Given the description of an element on the screen output the (x, y) to click on. 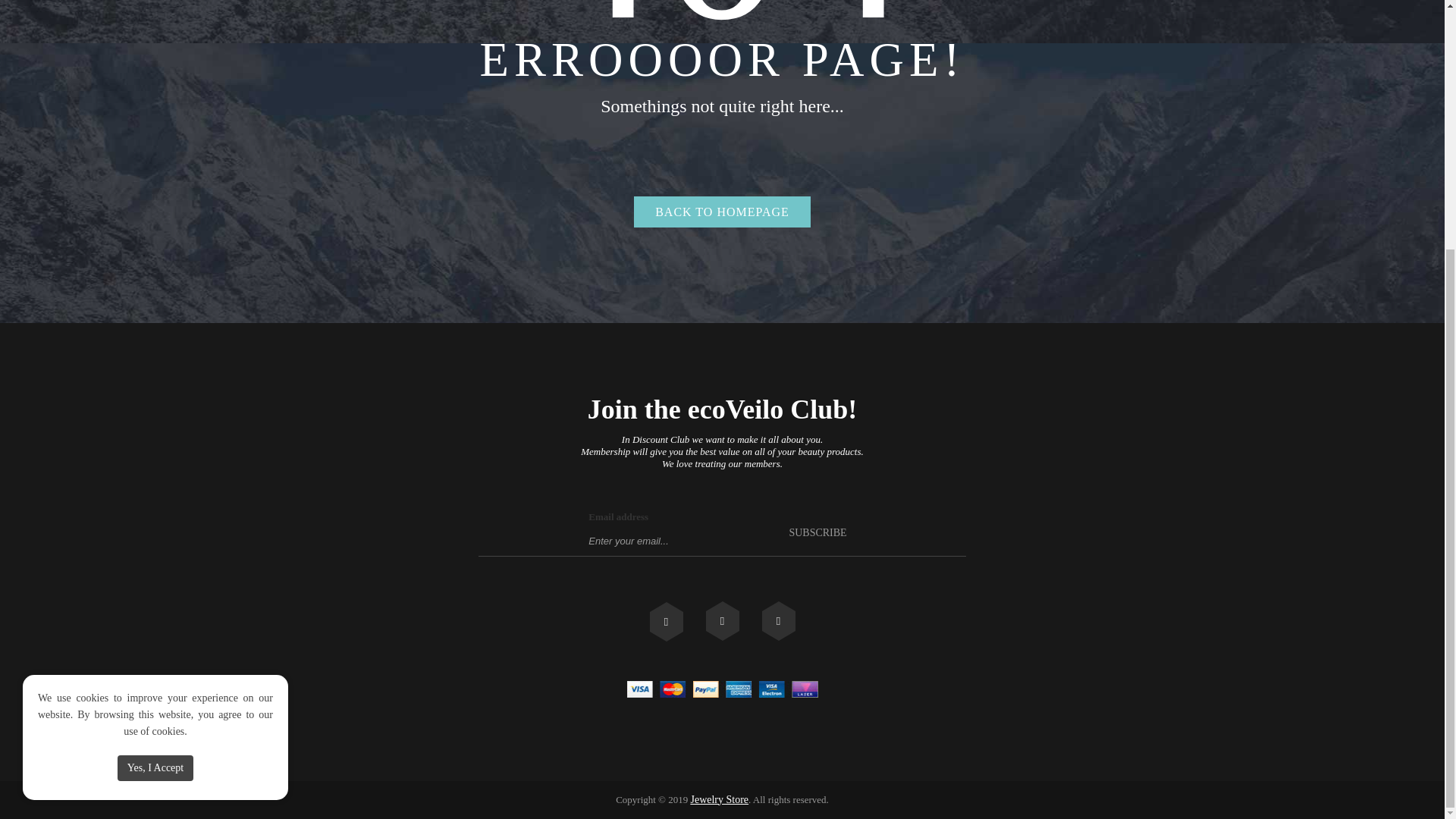
BACK TO HOMEPAGE (721, 211)
Jewelry Store (719, 799)
. (721, 620)
Subscribe (817, 532)
Yes, I Accept (155, 419)
. (665, 621)
Subscribe (817, 532)
. (777, 620)
